Given the description of an element on the screen output the (x, y) to click on. 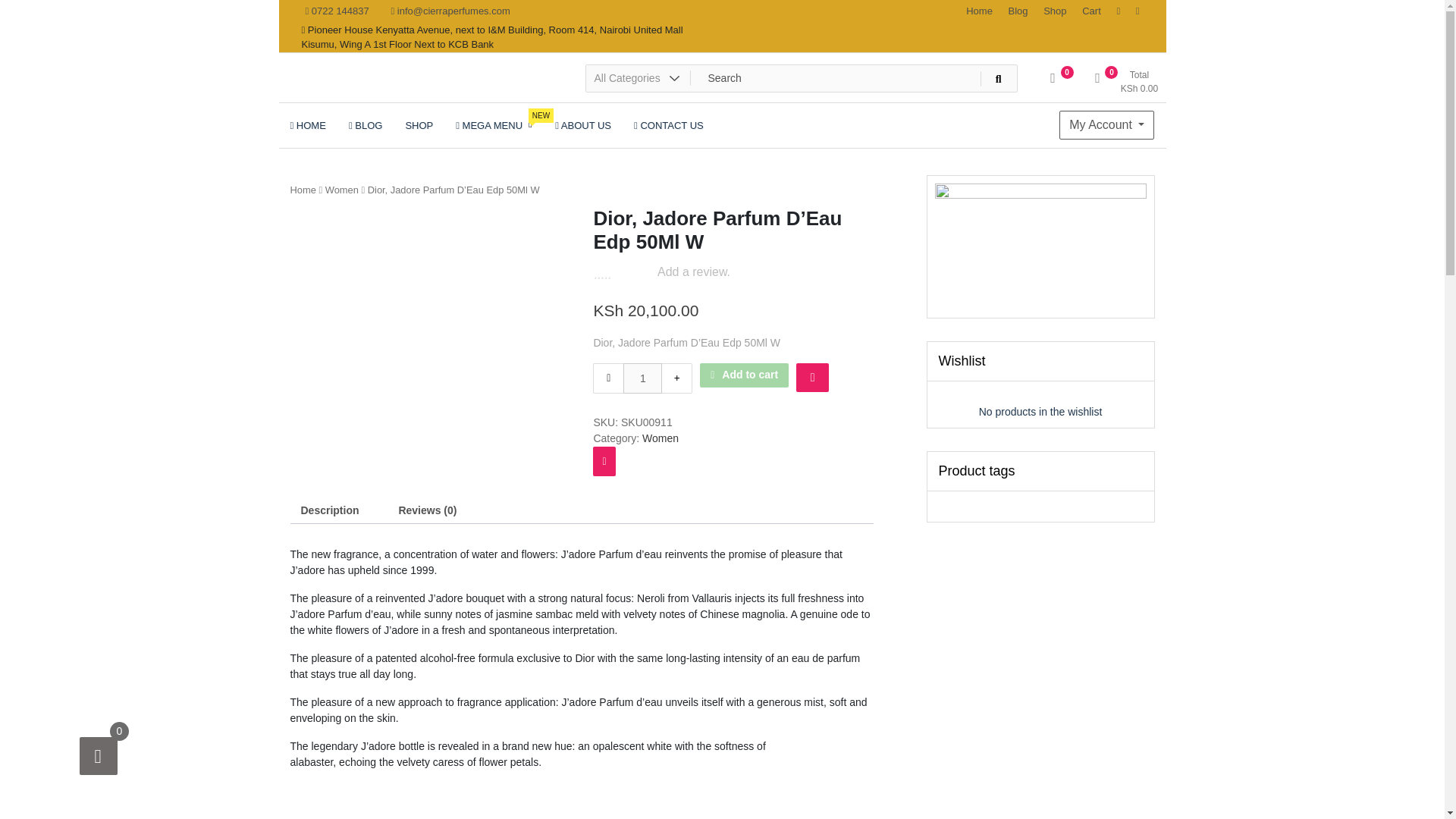
1 (642, 378)
My Account (1106, 124)
HOME (308, 125)
SHOP (418, 125)
0 (1053, 82)
Blog (1018, 11)
Cierra Perfumes (377, 94)
Shop (493, 125)
ABOUT US (1054, 11)
Home (583, 125)
Home (302, 189)
No Review (978, 11)
Cart (621, 273)
Qty (1091, 11)
